Given the description of an element on the screen output the (x, y) to click on. 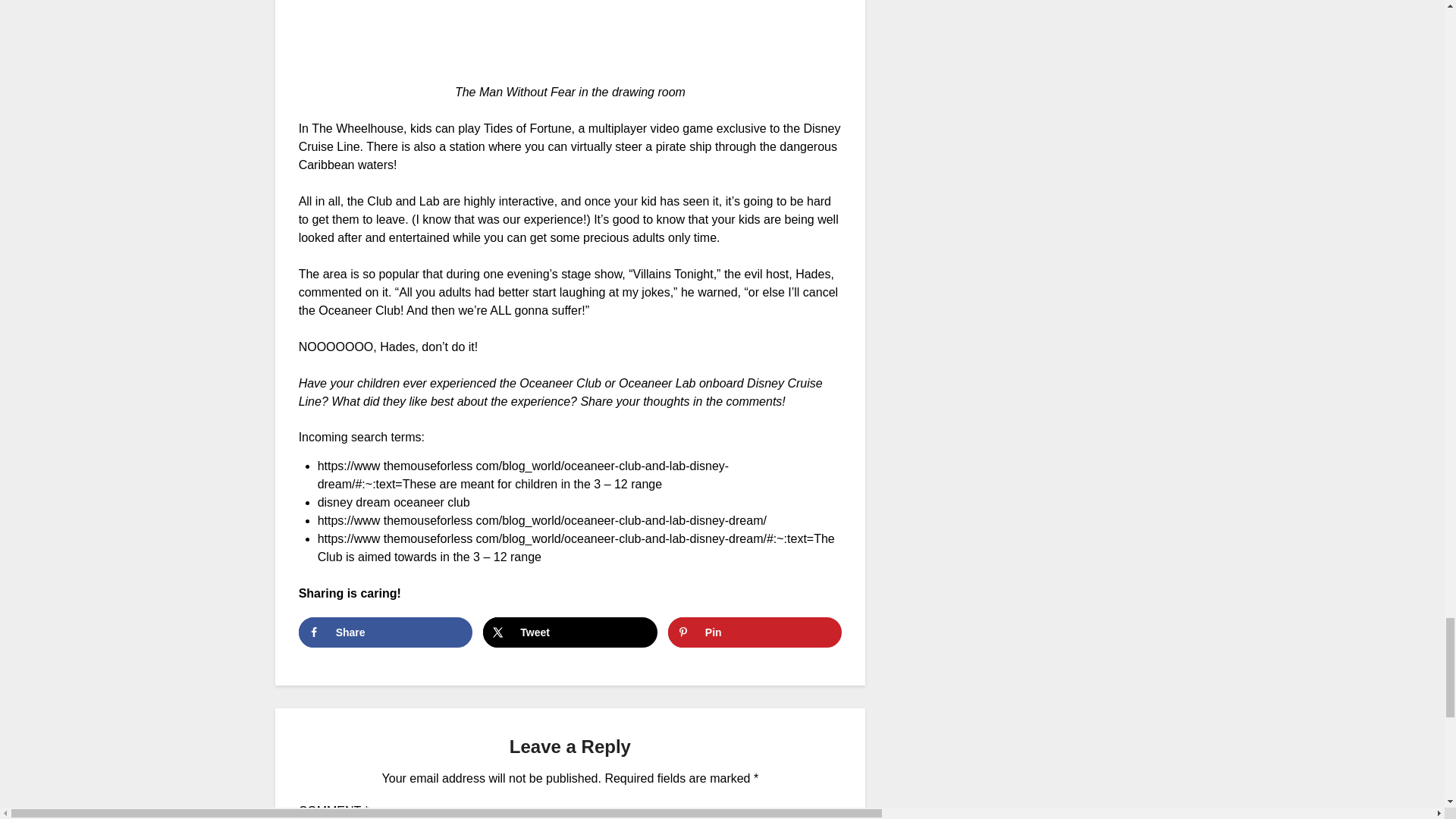
Tweet (569, 632)
Save to Pinterest (754, 632)
Pin (754, 632)
Share on X (569, 632)
Share on Facebook (384, 632)
Share (384, 632)
